Given the description of an element on the screen output the (x, y) to click on. 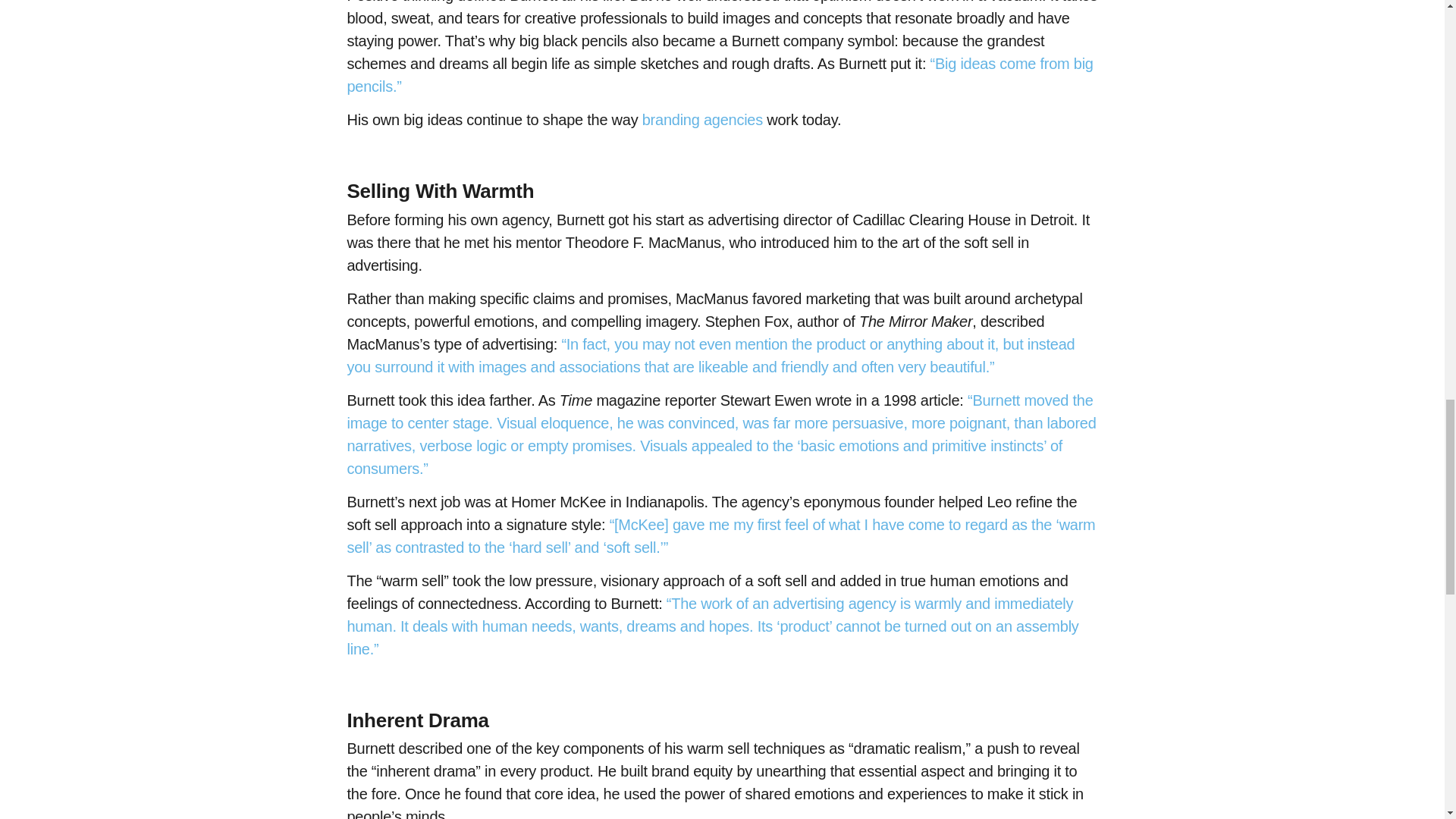
branding agencies (702, 119)
